Given the description of an element on the screen output the (x, y) to click on. 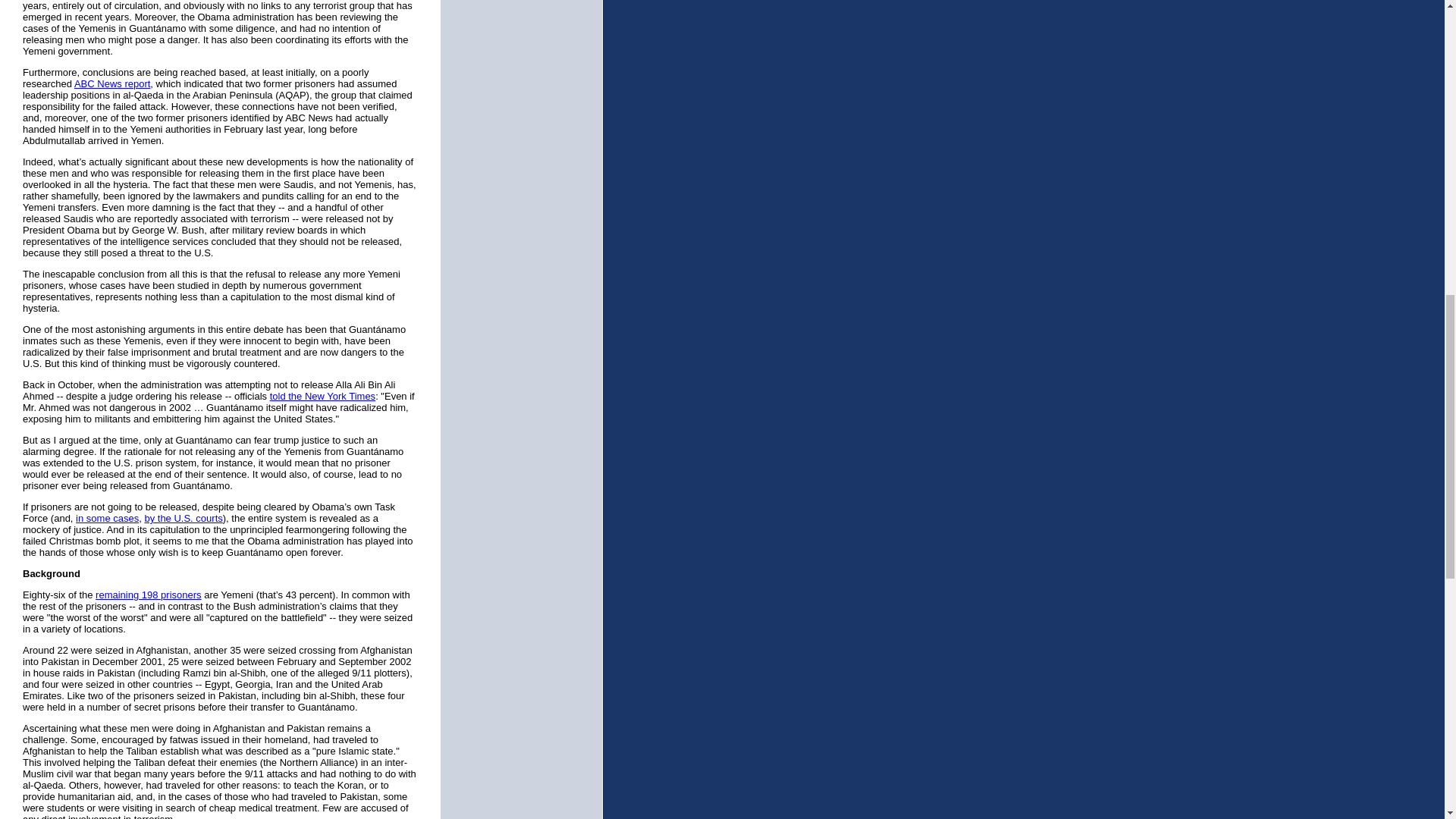
in some cases (106, 518)
ABC News report (111, 83)
told the New York Times (322, 396)
remaining 198 prisoners (148, 594)
by the U.S. courts (183, 518)
